Given the description of an element on the screen output the (x, y) to click on. 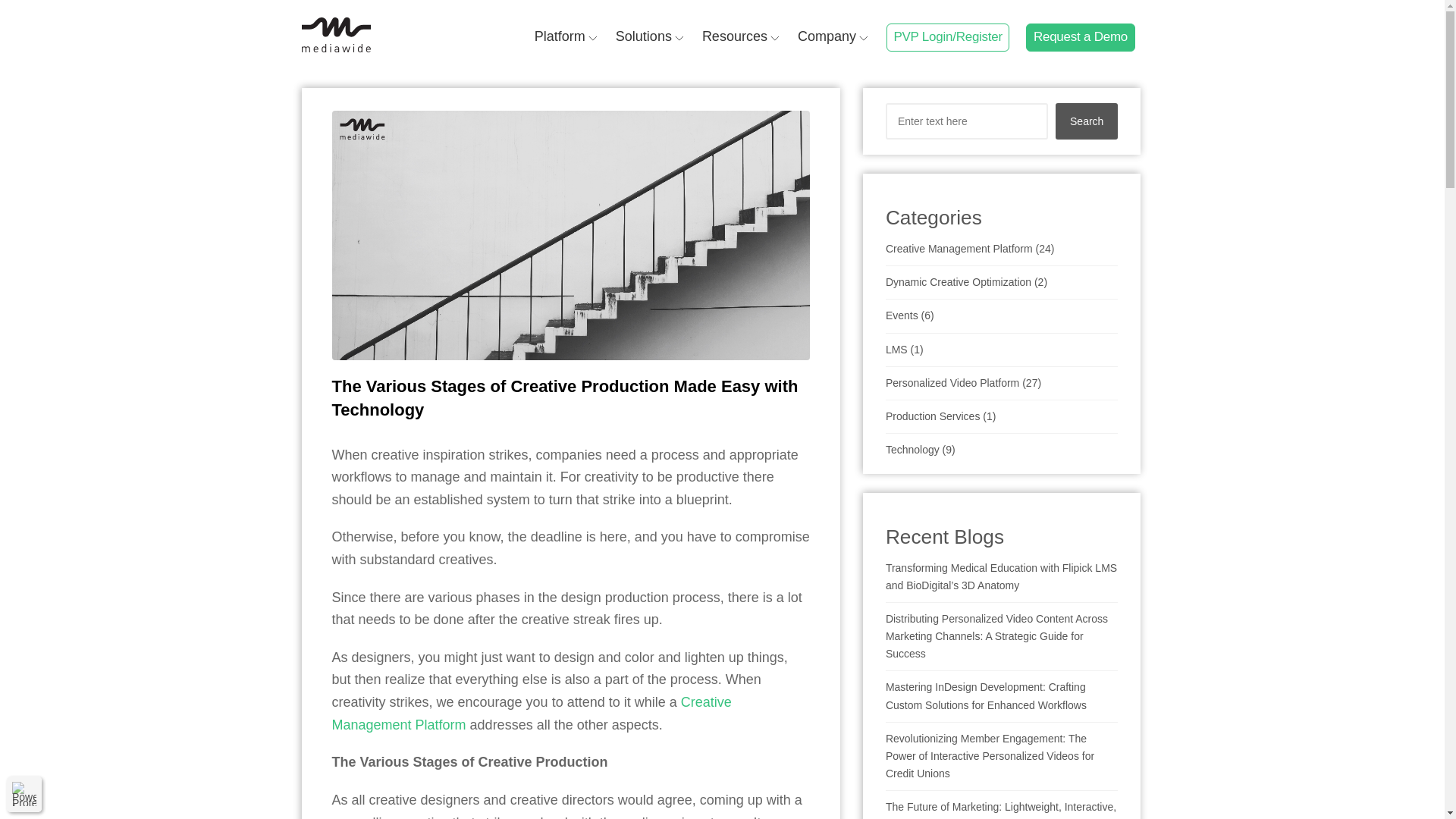
Request a Demo (1080, 37)
Creative Management Platform (531, 713)
Shield Security (23, 793)
Mediawide (341, 34)
